Given the description of an element on the screen output the (x, y) to click on. 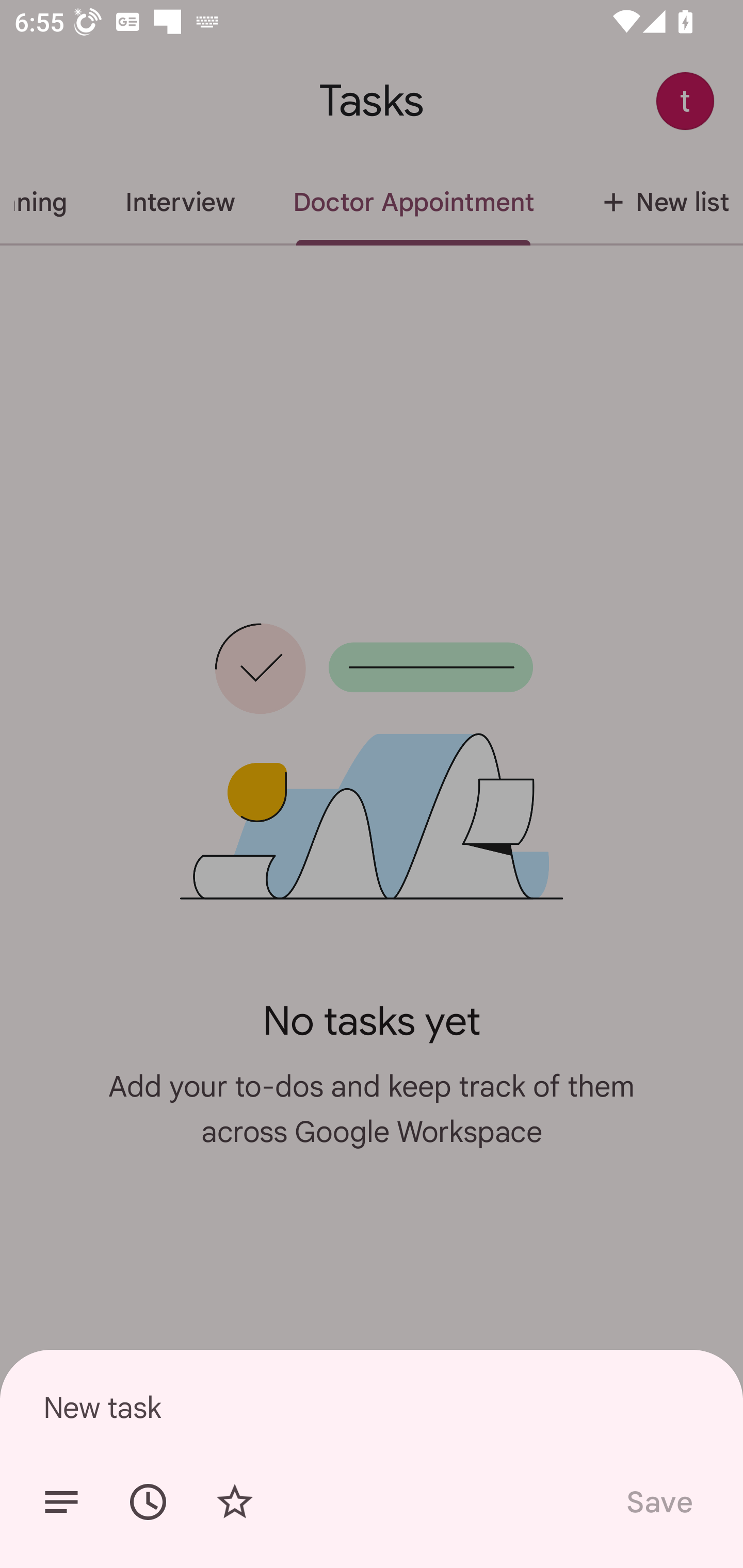
New task (371, 1407)
Save (659, 1501)
Add details (60, 1501)
Set date/time (147, 1501)
Add star (234, 1501)
